Given the description of an element on the screen output the (x, y) to click on. 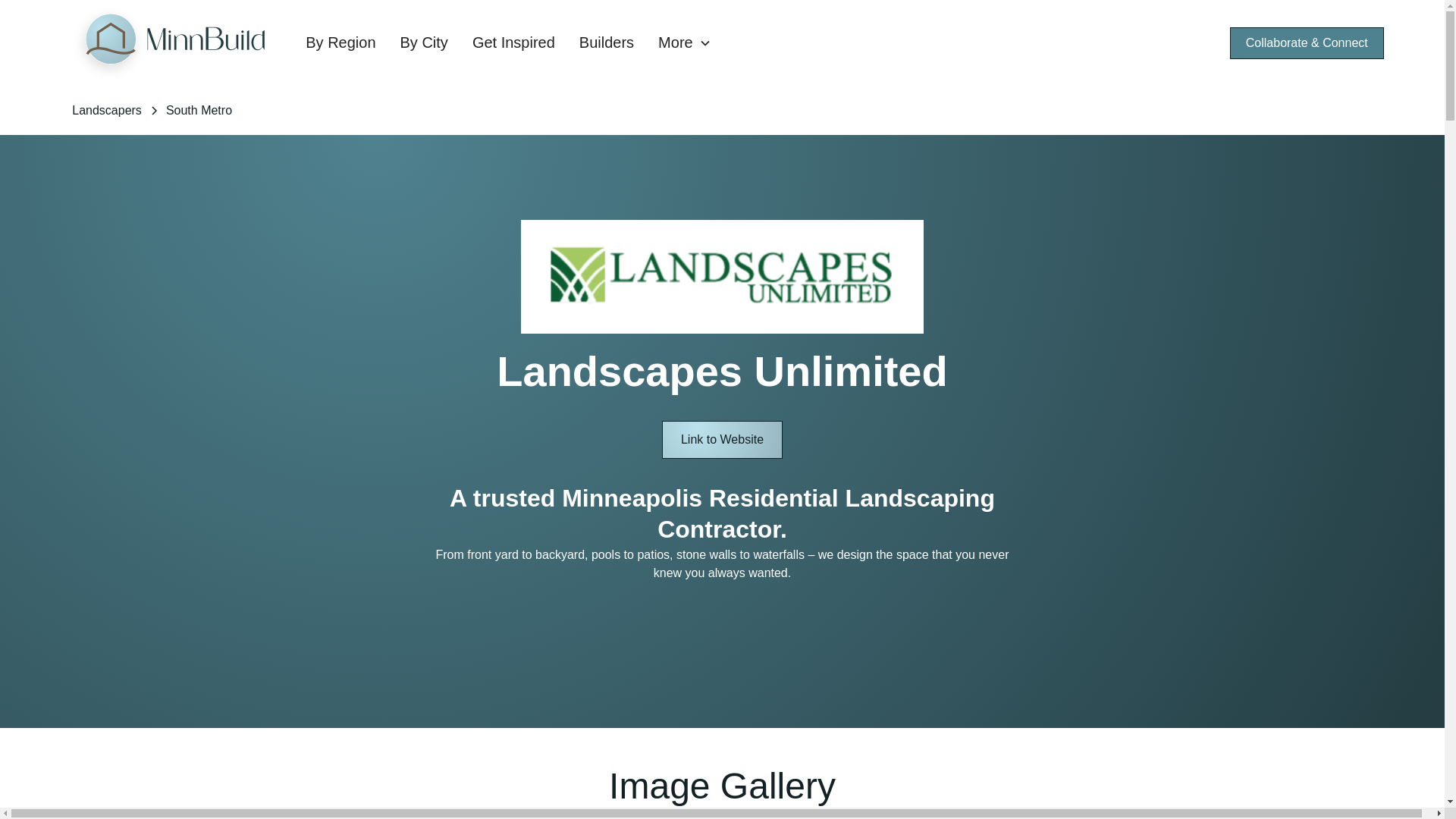
Link to Website (722, 439)
By Region (340, 42)
Builders (606, 42)
South Metro (198, 110)
Landscapers (106, 110)
Get Inspired (513, 42)
By City (424, 42)
